Given the description of an element on the screen output the (x, y) to click on. 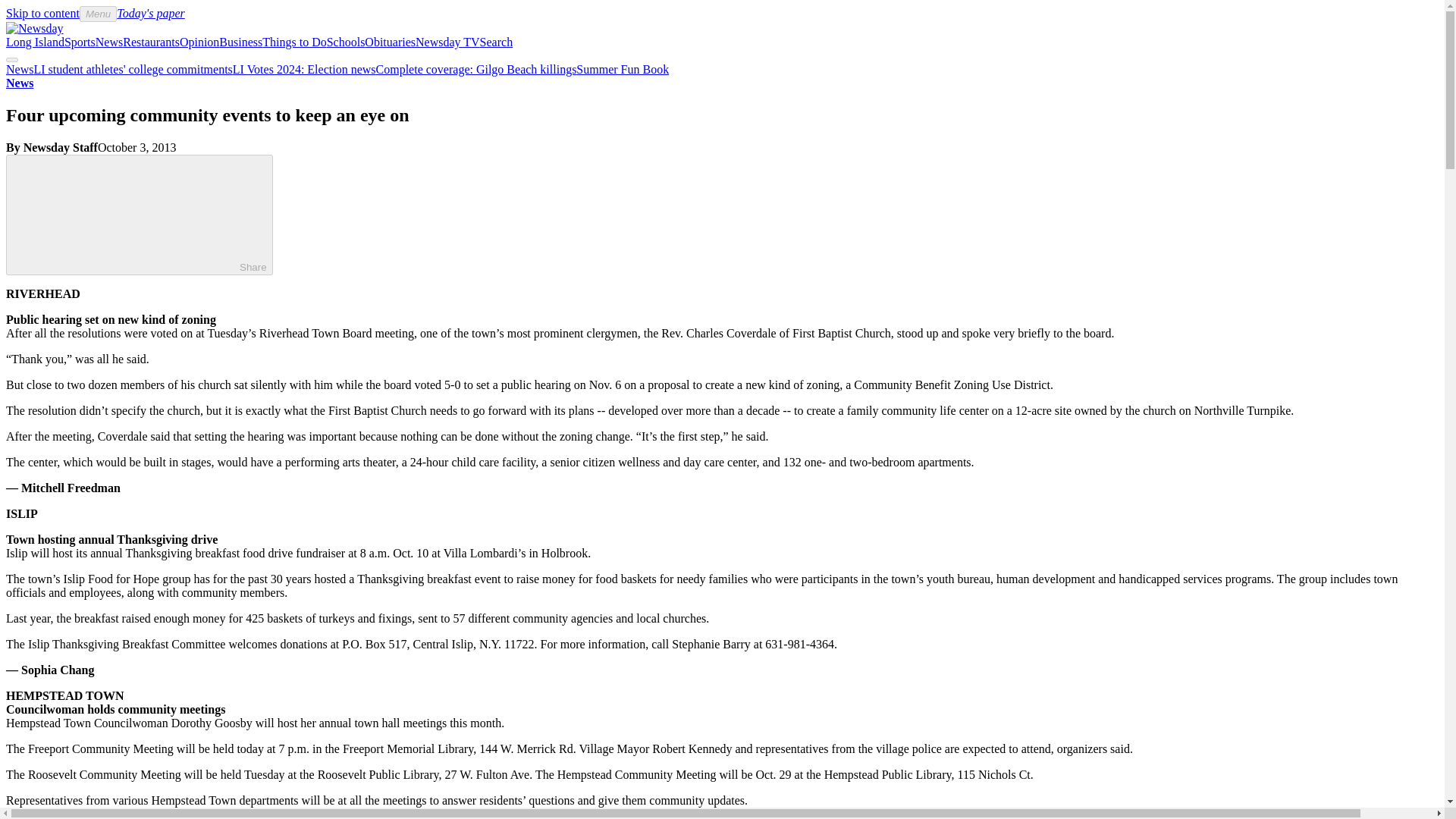
News (19, 69)
Long Island (34, 42)
Share (139, 214)
Today's paper (150, 12)
Schools (345, 42)
Obituaries (389, 42)
Newsday TV (447, 42)
Business (240, 42)
Things to Do (294, 42)
LI Votes 2024: Election news (303, 69)
